Given the description of an element on the screen output the (x, y) to click on. 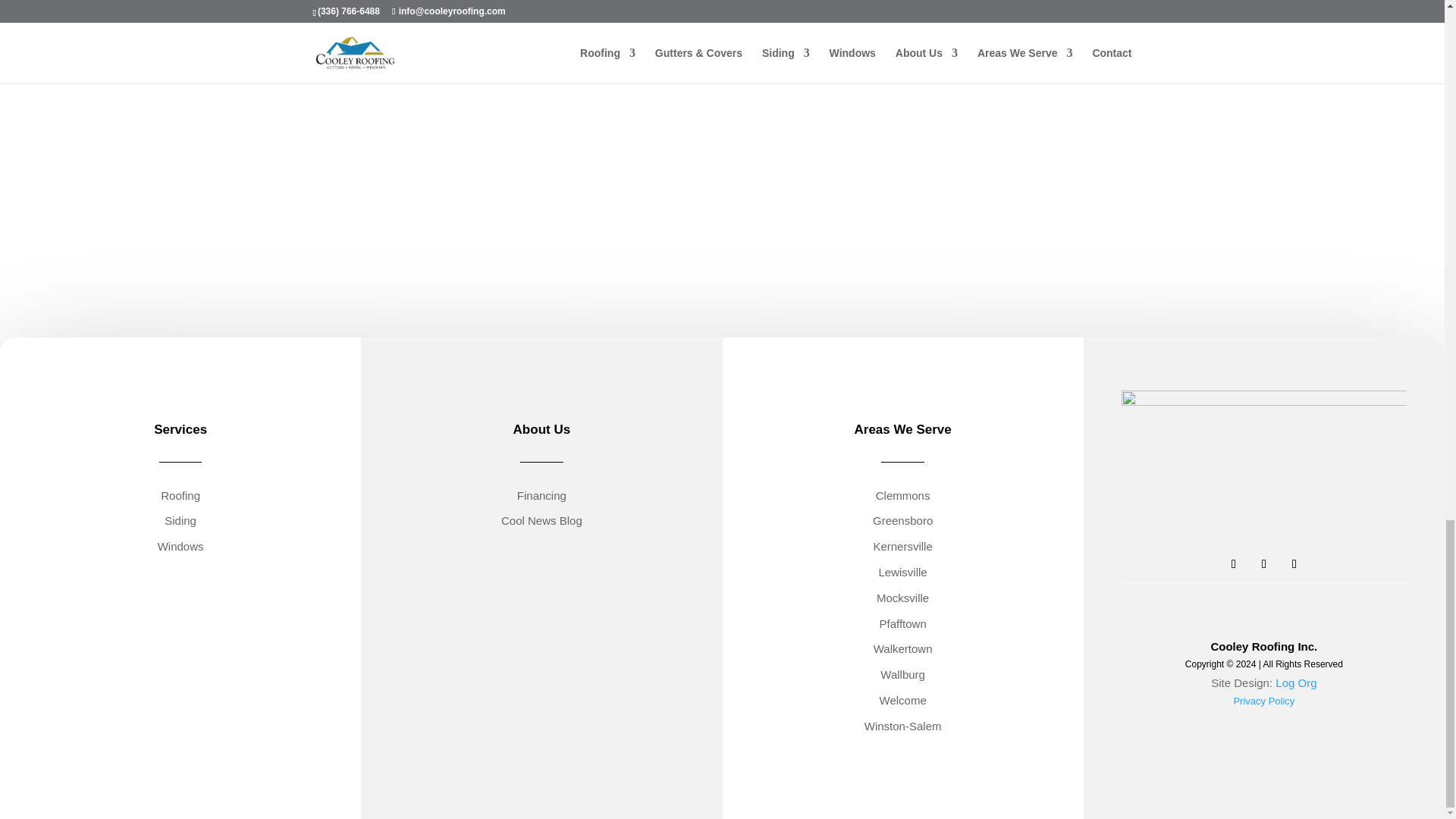
Follow on X (1264, 564)
Cooley-Roofing-Black with Number 805x457 - 11.4.22 (1263, 471)
Follow on Instagram (1294, 564)
Follow on Facebook (1233, 564)
